Given the description of an element on the screen output the (x, y) to click on. 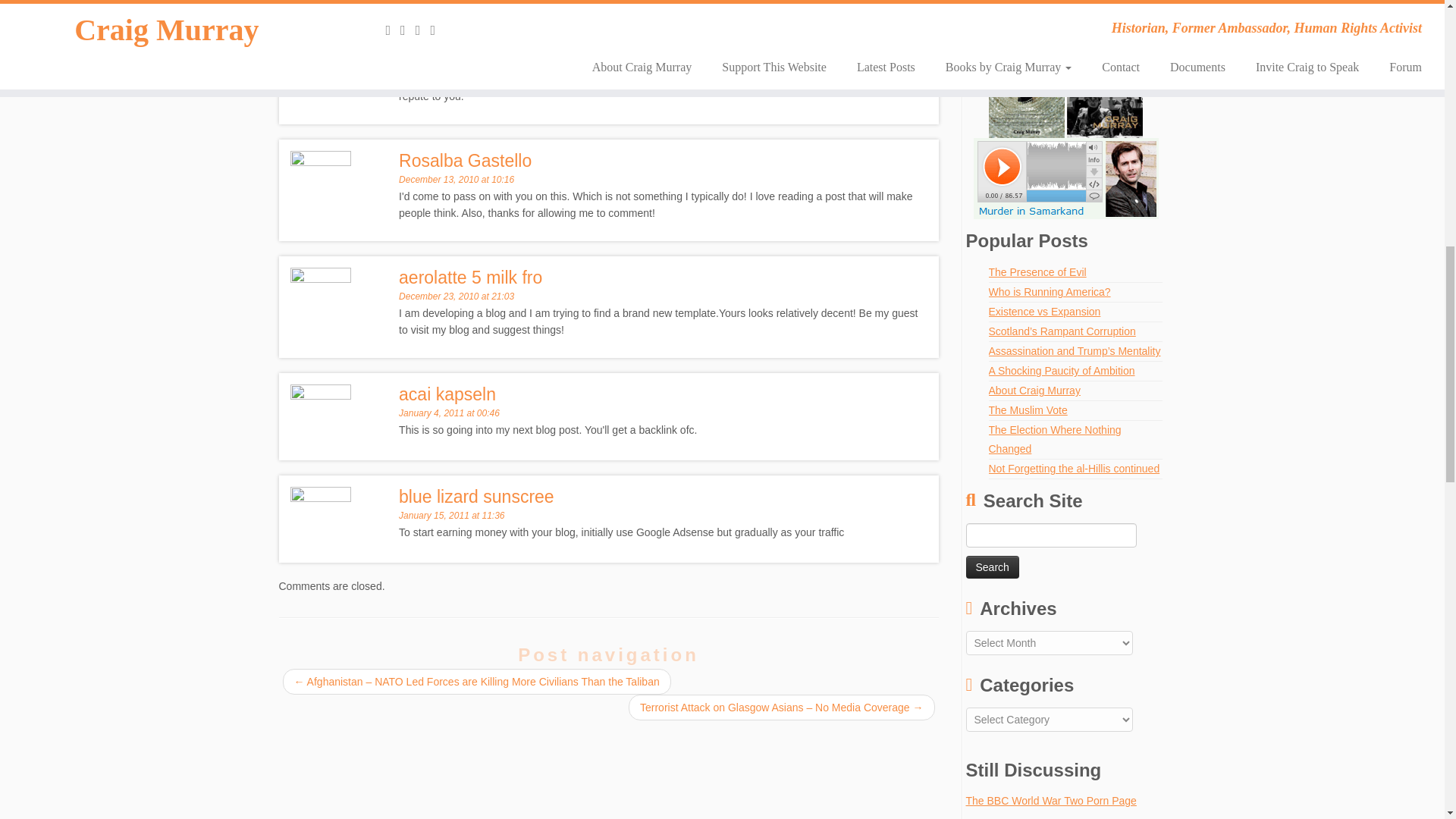
designer handbags (472, 10)
Rosalba Gastello (464, 160)
December 7, 2010 at 07:39 (453, 29)
December 13, 2010 at 10:16 (455, 179)
December 23, 2010 at 21:03 (455, 296)
Search (992, 567)
January 4, 2011 at 00:46 (448, 412)
aerolatte 5 milk fro (469, 277)
acai kapseln (447, 394)
